Given the description of an element on the screen output the (x, y) to click on. 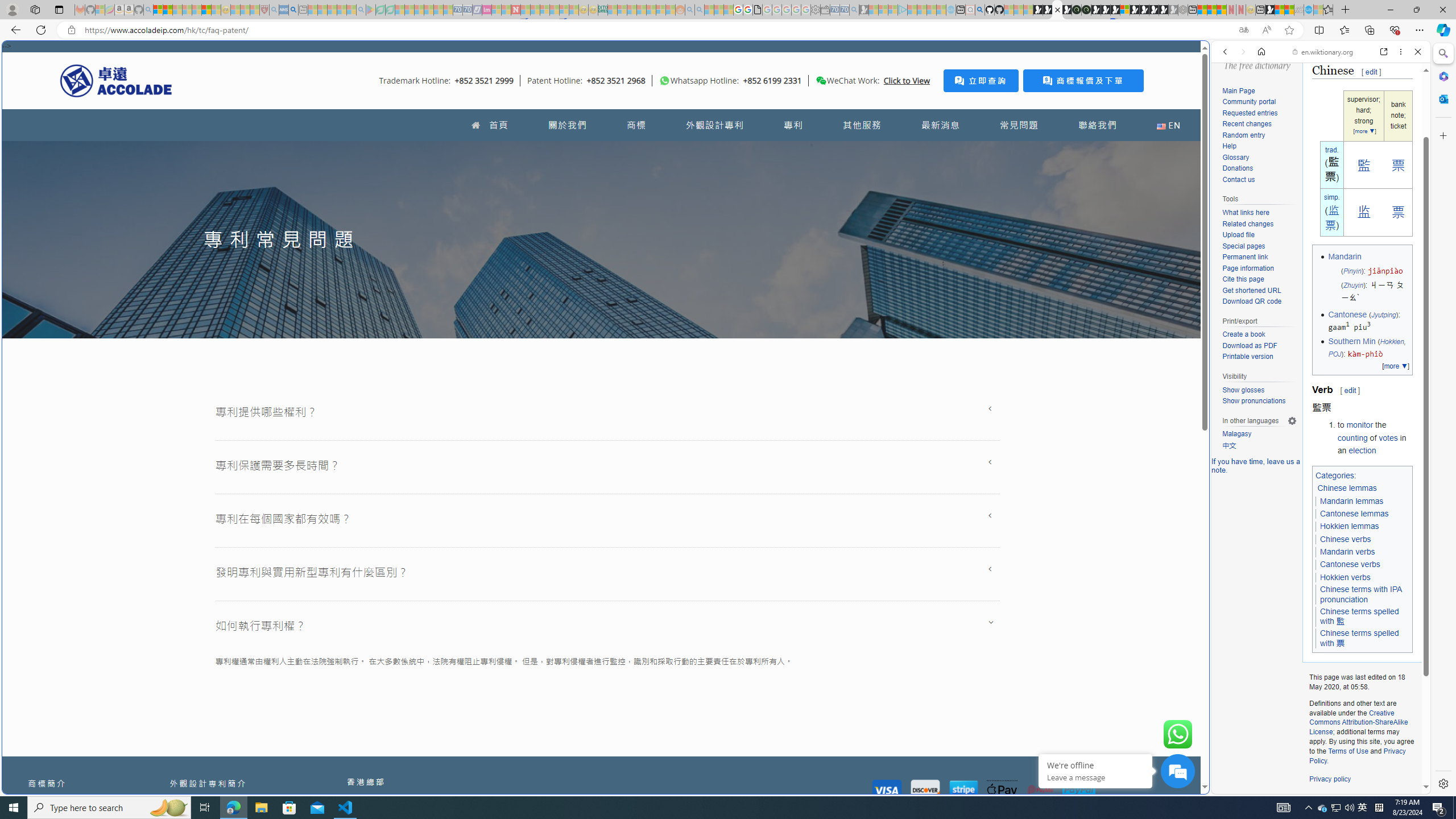
Robert H. Shmerling, MD - Harvard Health - Sleeping (263, 9)
Requested entries (1259, 113)
World - MSN (1279, 9)
WEB   (1230, 130)
en.wiktionary.org (1323, 51)
Permanent link (1244, 257)
Download QR code (1251, 301)
